Given the description of an element on the screen output the (x, y) to click on. 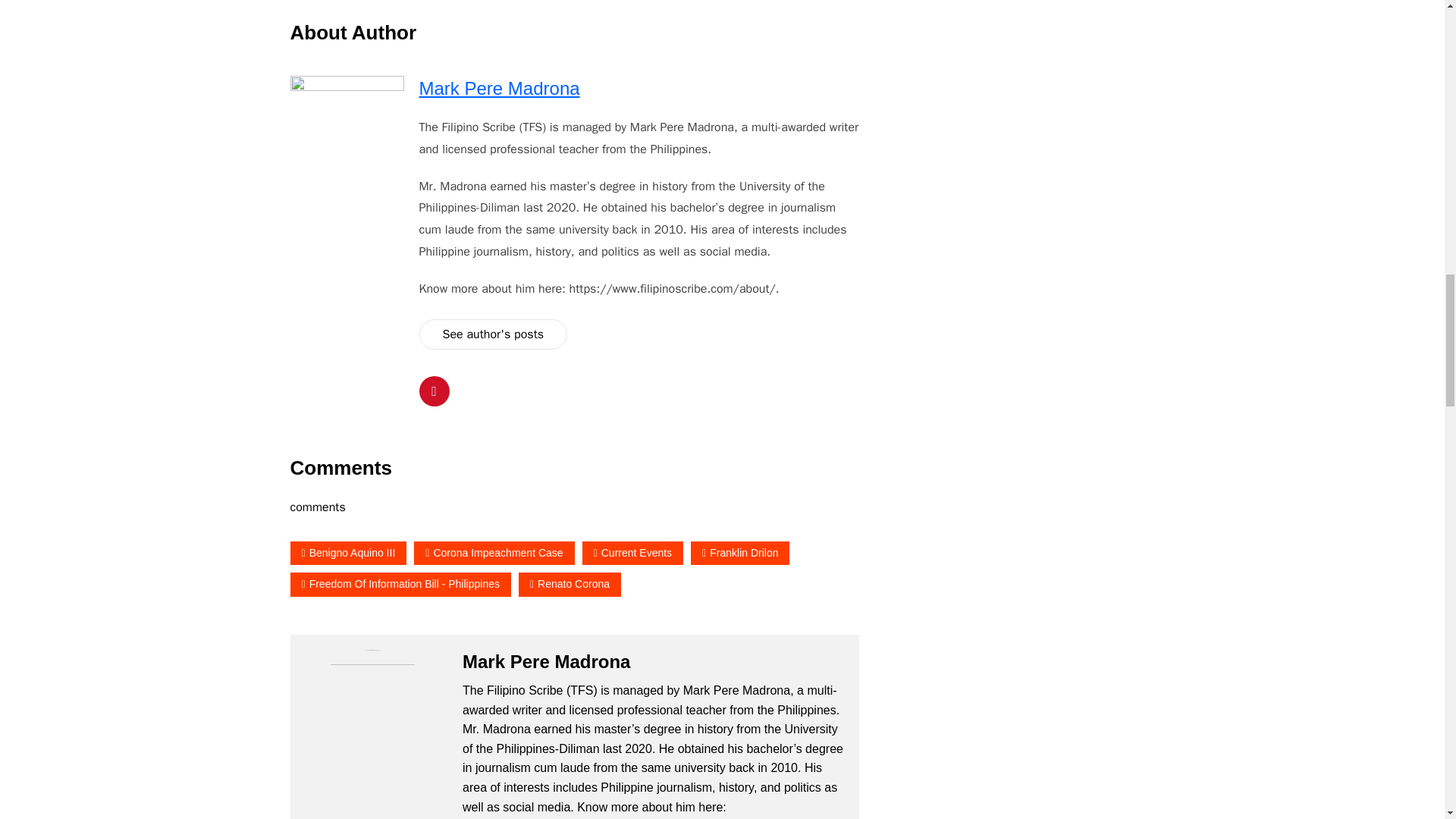
Mark Pere Madrona (499, 87)
See author's posts (493, 334)
